Given the description of an element on the screen output the (x, y) to click on. 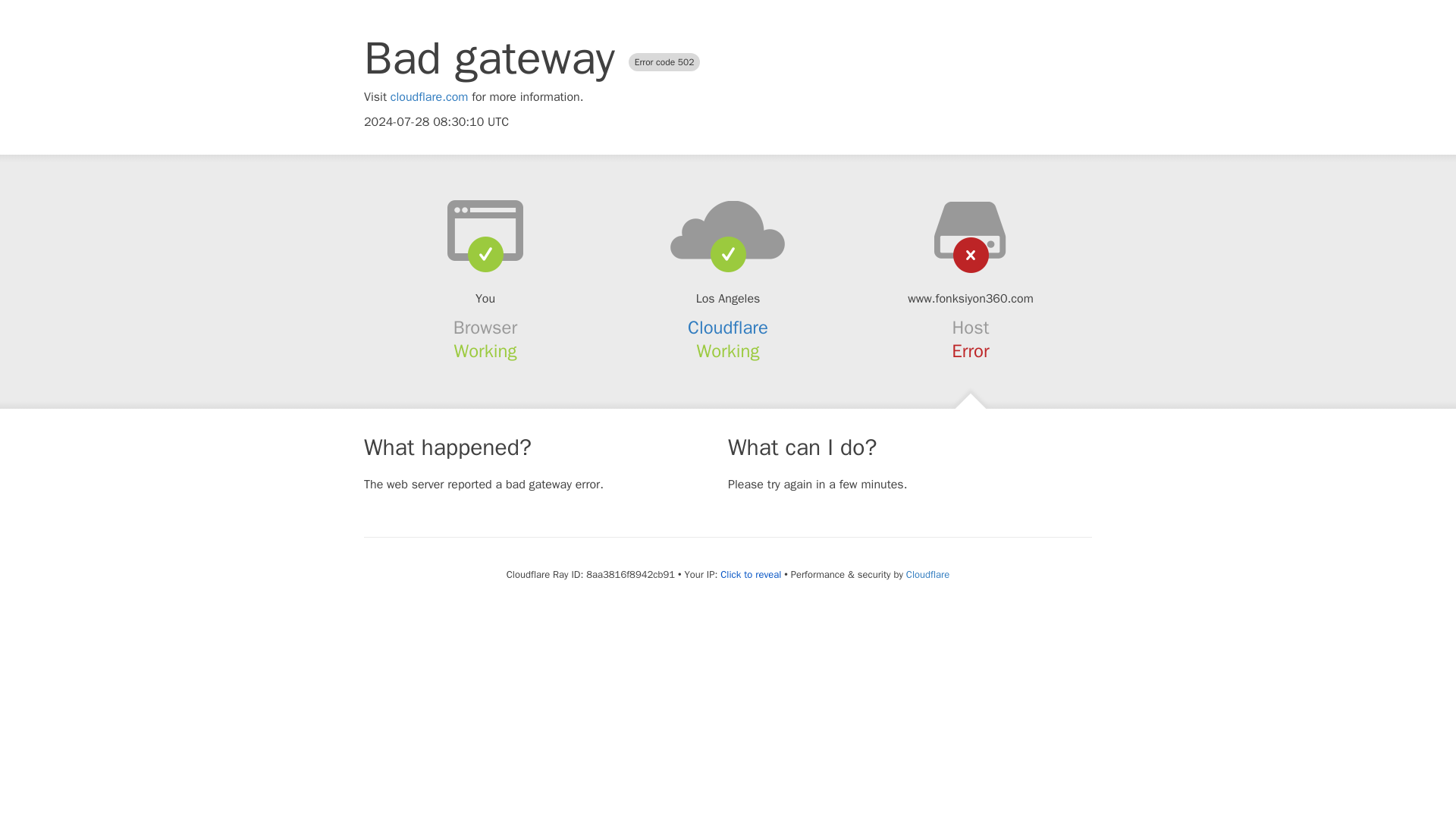
Click to reveal (750, 574)
Cloudflare (927, 574)
cloudflare.com (429, 96)
Cloudflare (727, 327)
